Given the description of an element on the screen output the (x, y) to click on. 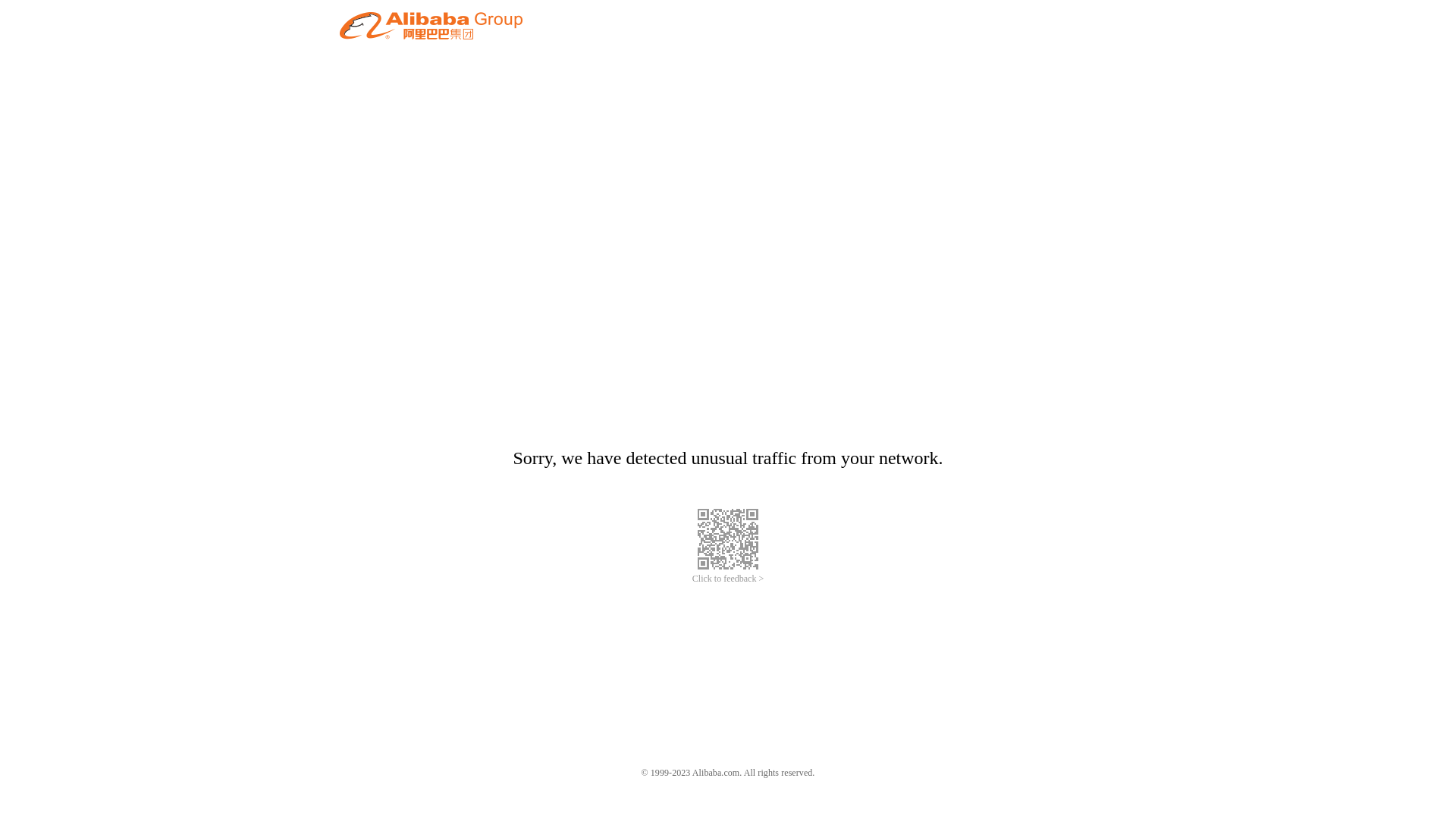
Click to feedback > Element type: text (727, 578)
